Given the description of an element on the screen output the (x, y) to click on. 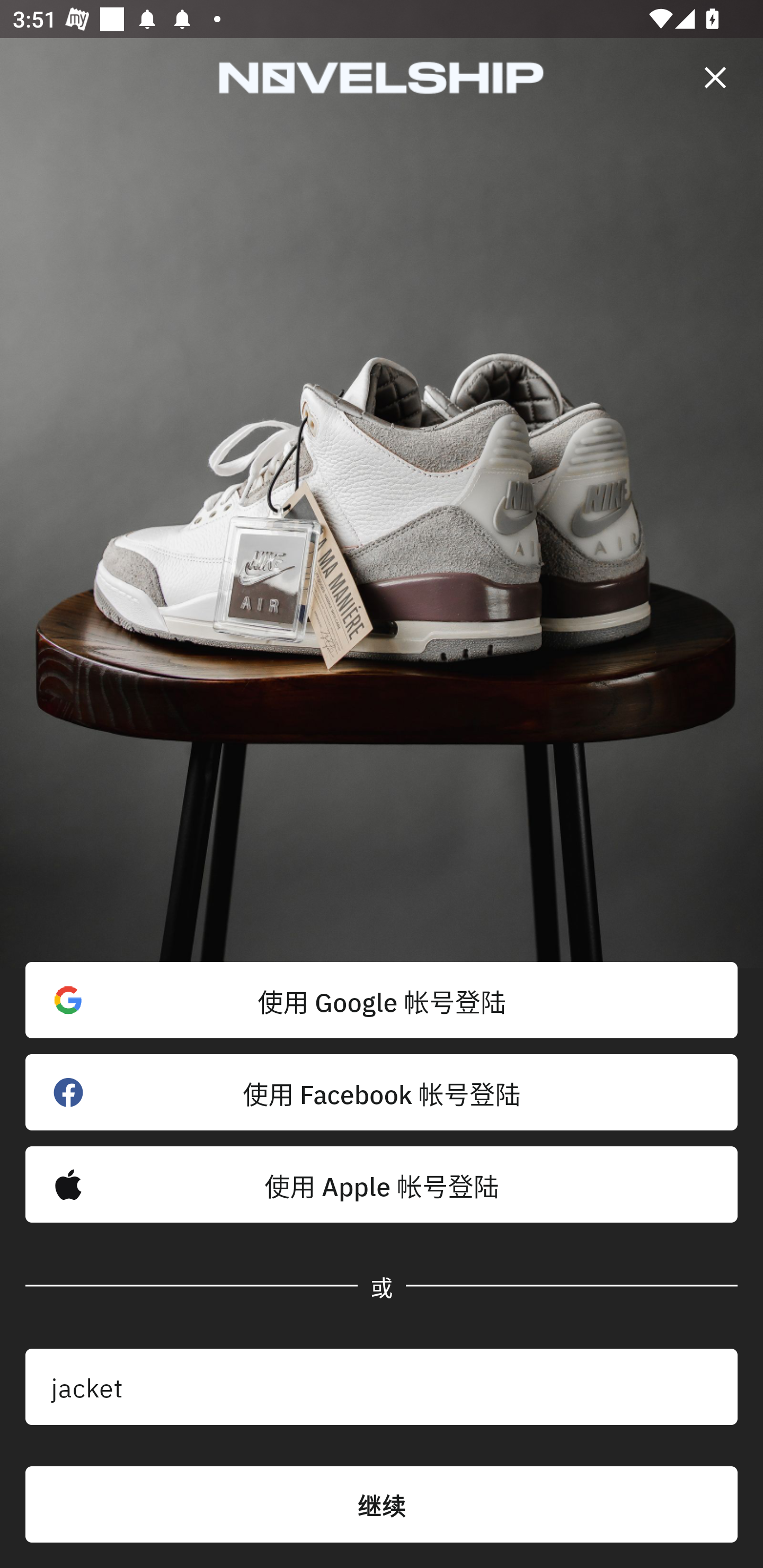
使用 Google 帐号登陆 (381, 1000)
使用 Facebook 帐号登陆 󰈌 (381, 1091)
 使用 Apple 帐号登陆 (381, 1184)
jacket (381, 1386)
继续 (381, 1504)
